Given the description of an element on the screen output the (x, y) to click on. 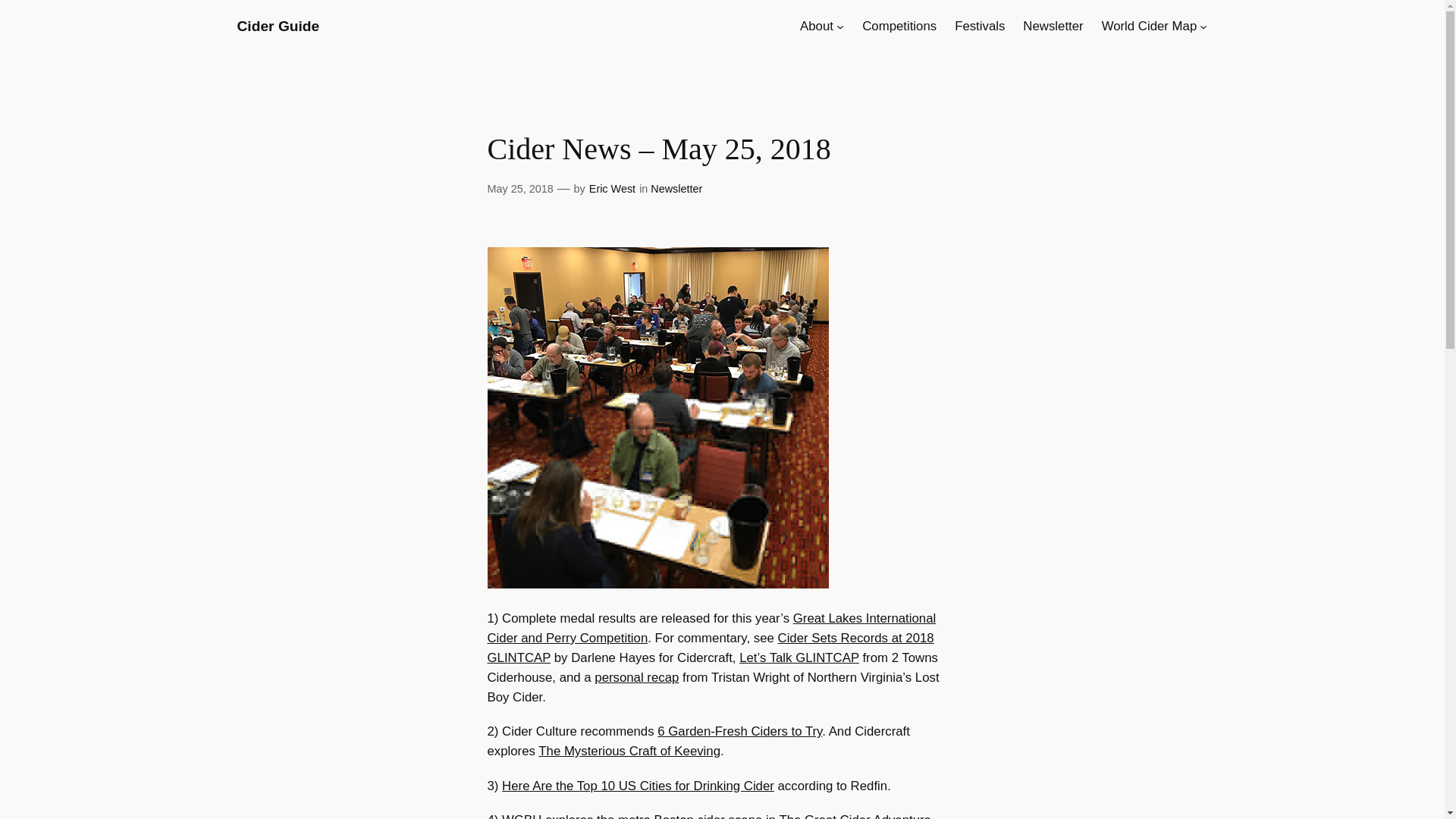
Competitions (898, 26)
About (815, 26)
Festivals (979, 26)
Cider Guide (276, 26)
Newsletter (1053, 26)
World Cider Map (1149, 26)
